Given the description of an element on the screen output the (x, y) to click on. 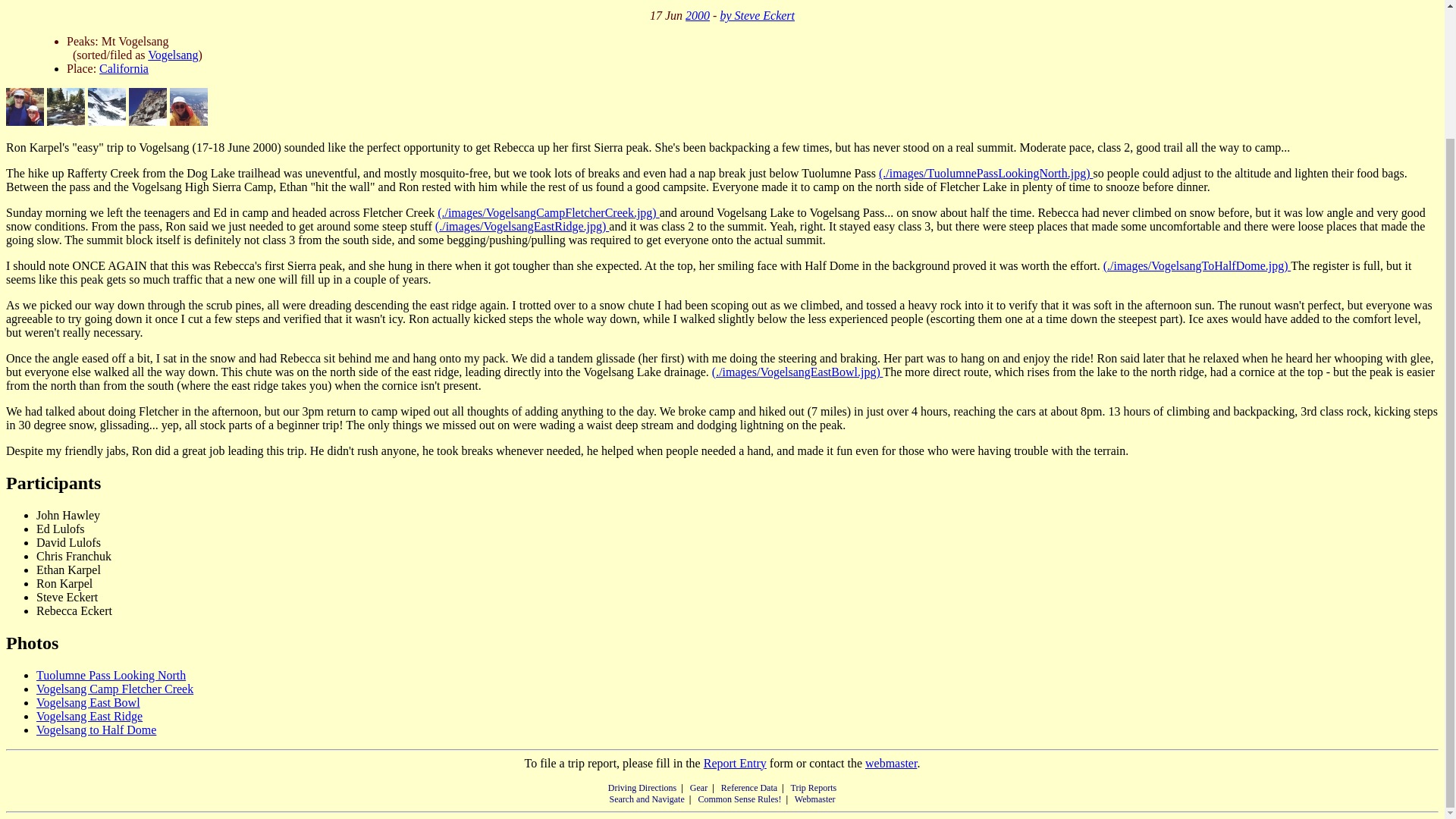
Common Sense Rules! (738, 798)
Report Entry (735, 762)
Tuolumne Pass Looking North (111, 675)
Trip Reports (813, 787)
Vogelsang East Ridge (89, 716)
2000 (697, 15)
Gear (698, 787)
Webmaster (814, 798)
by Steve Eckert (756, 15)
Vogelsang Camp Fletcher Creek (114, 688)
Vogelsang East Bowl (87, 702)
Vogelsang to Half Dome (95, 729)
webmaster (890, 762)
Search and Navigate (646, 798)
Reference Data (748, 787)
